Given the description of an element on the screen output the (x, y) to click on. 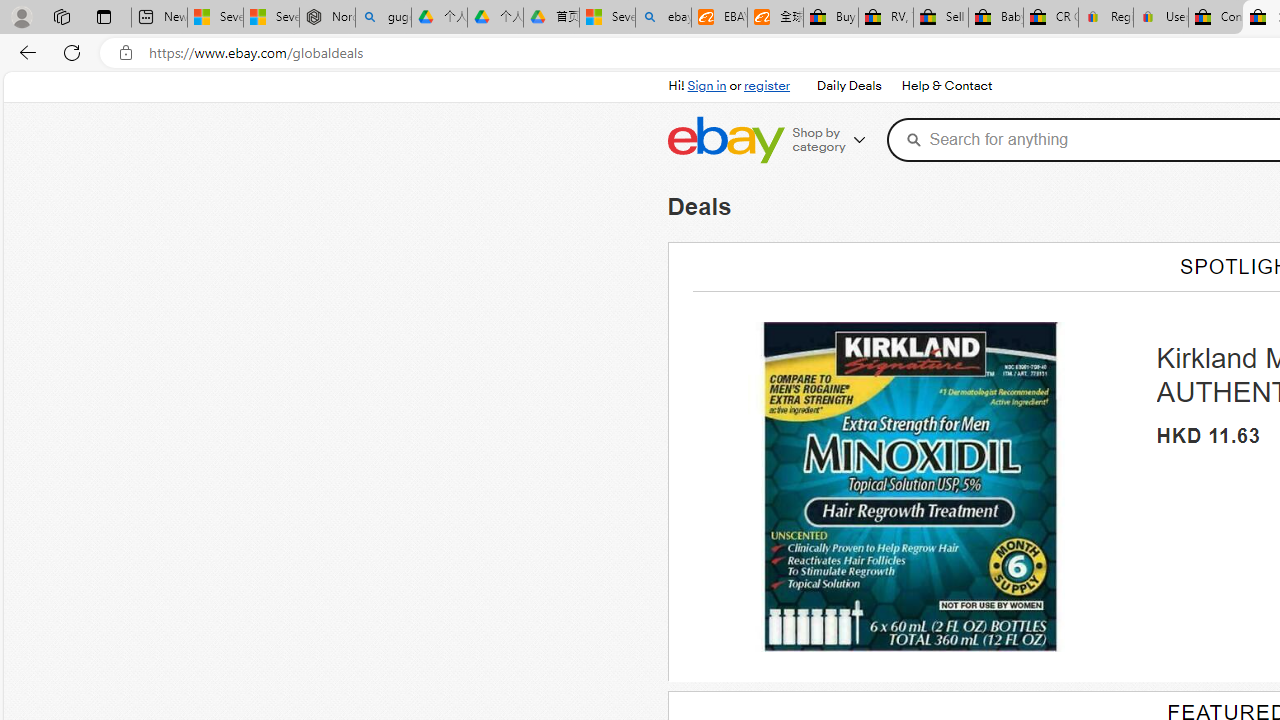
View site information (125, 53)
Register: Create a personal eBay account (1105, 17)
New tab (158, 17)
Consumer Health Data Privacy Policy - eBay Inc. (1215, 17)
Tab actions menu (104, 16)
User Privacy Notice | eBay (1160, 17)
Help & Contact (945, 85)
Buy Auto Parts & Accessories | eBay (830, 17)
Daily Deals (848, 86)
